Given the description of an element on the screen output the (x, y) to click on. 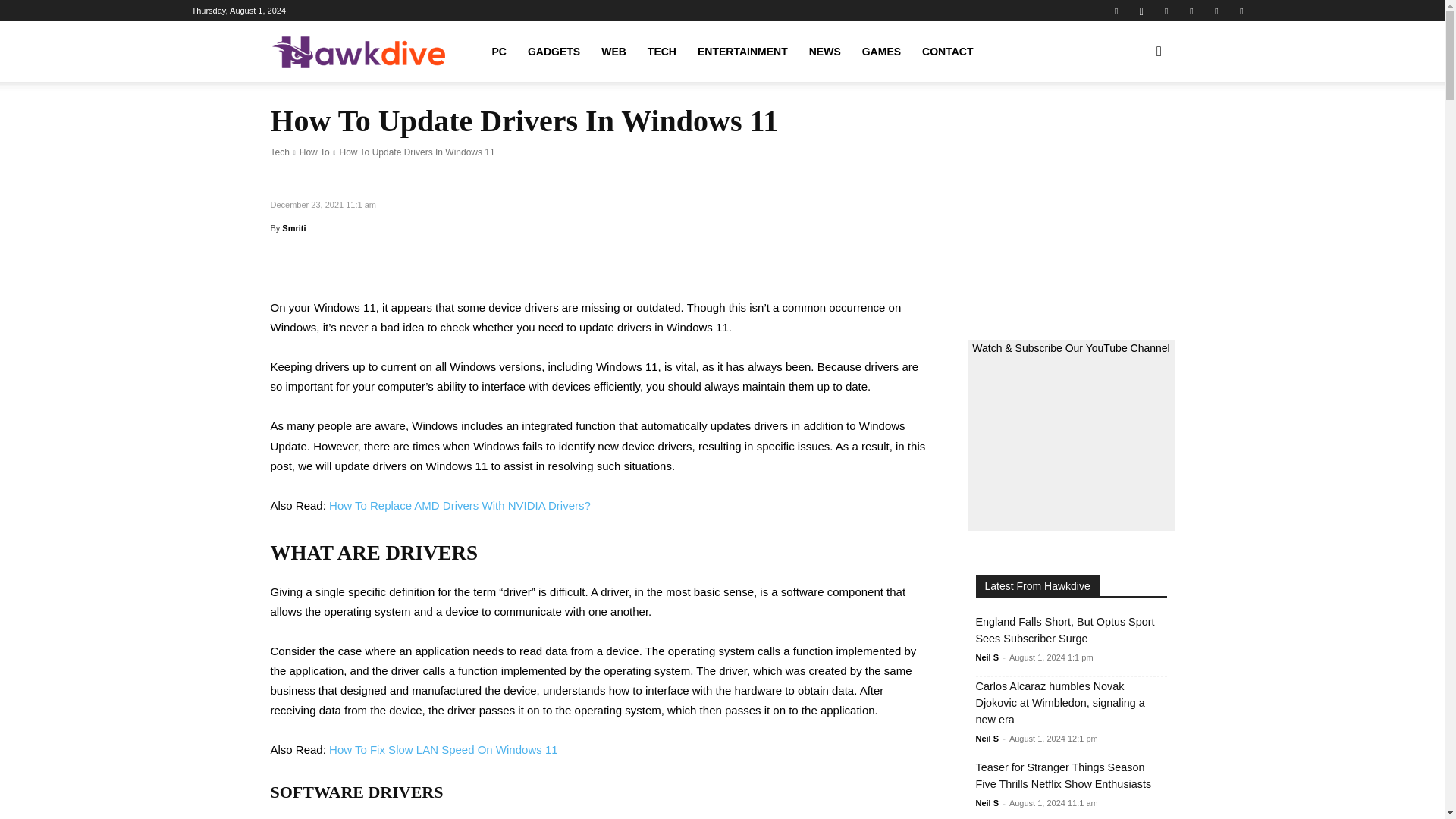
Youtube (1241, 10)
Pinterest (1165, 10)
Instagram (1141, 10)
Facebook (1115, 10)
Twitter (1216, 10)
Telegram (1190, 10)
